Given the description of an element on the screen output the (x, y) to click on. 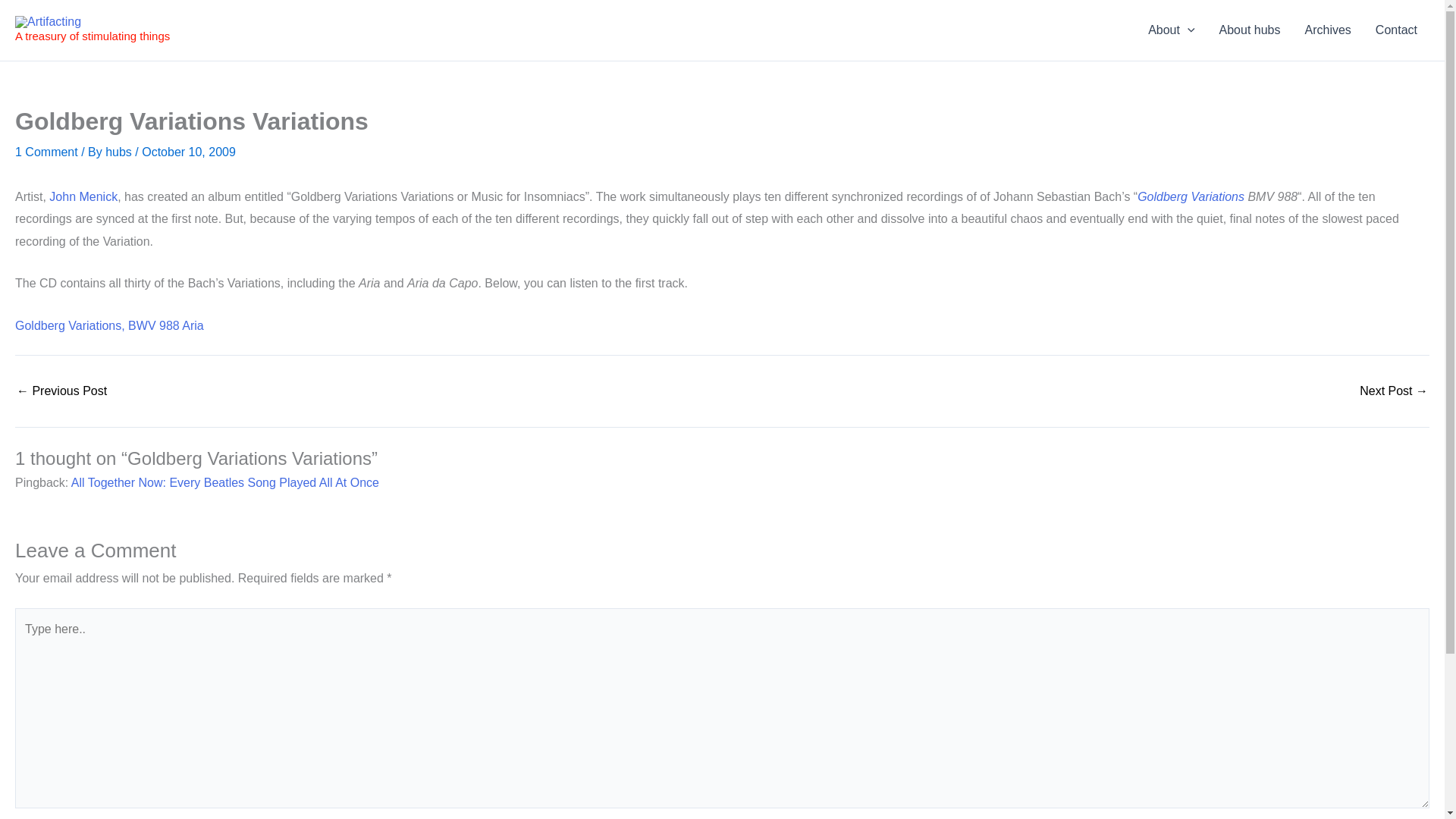
Goldberg Variations (1190, 196)
About hubs (1249, 30)
About (1171, 30)
Goldberg Variations, BWV 988 Aria (108, 325)
Contact (1395, 30)
Tweets For The Week Of 2009-10-05 (61, 390)
View all posts by hubs (119, 151)
John Menick (83, 196)
Tweets For The Week Of 2009-10-12 (1393, 390)
Archives (1327, 30)
